Given the description of an element on the screen output the (x, y) to click on. 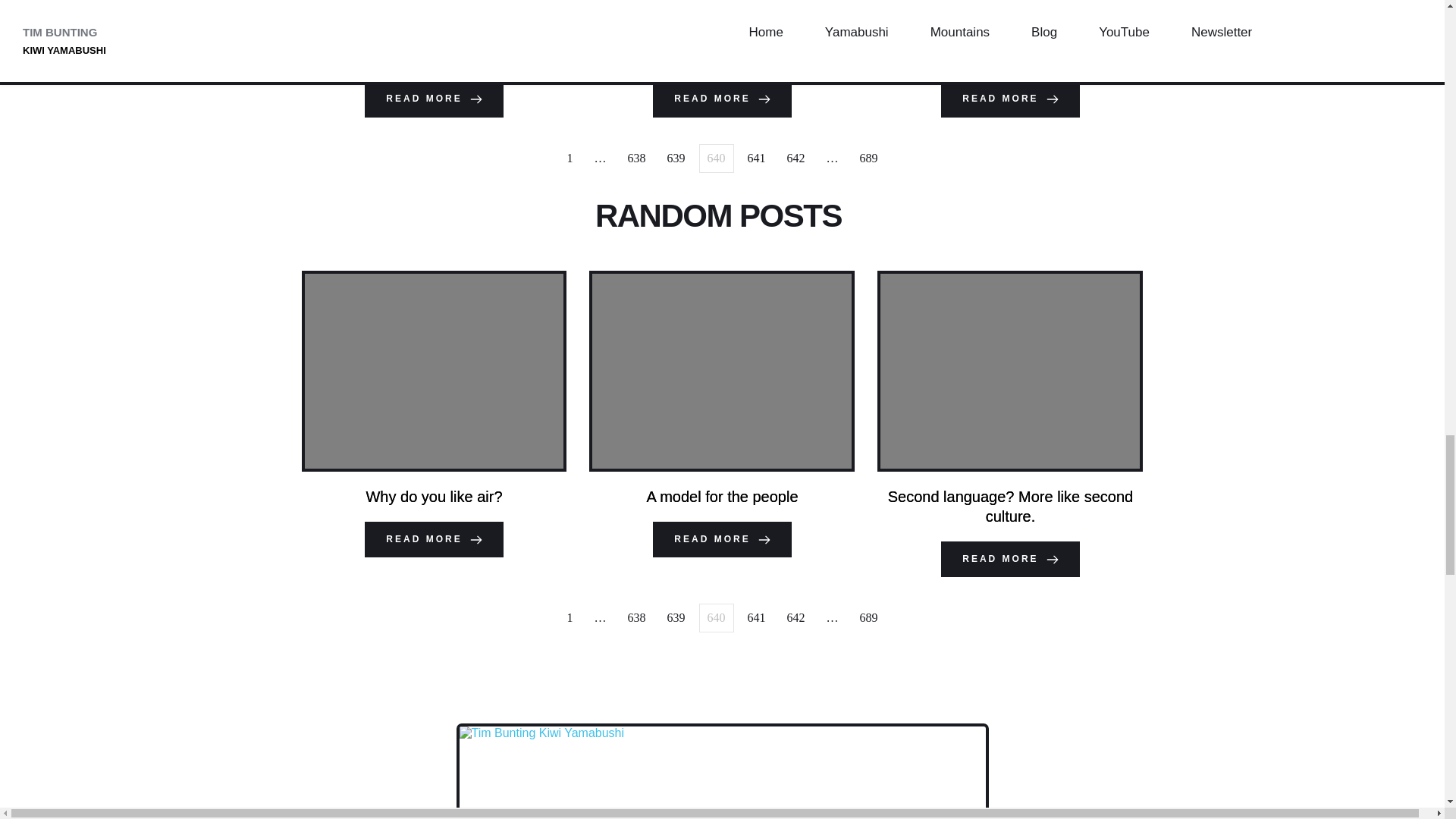
READ MORE (721, 99)
639 (676, 157)
READ MORE (433, 99)
642 (795, 157)
638 (636, 157)
641 (756, 157)
READ MORE (1009, 99)
